Given the description of an element on the screen output the (x, y) to click on. 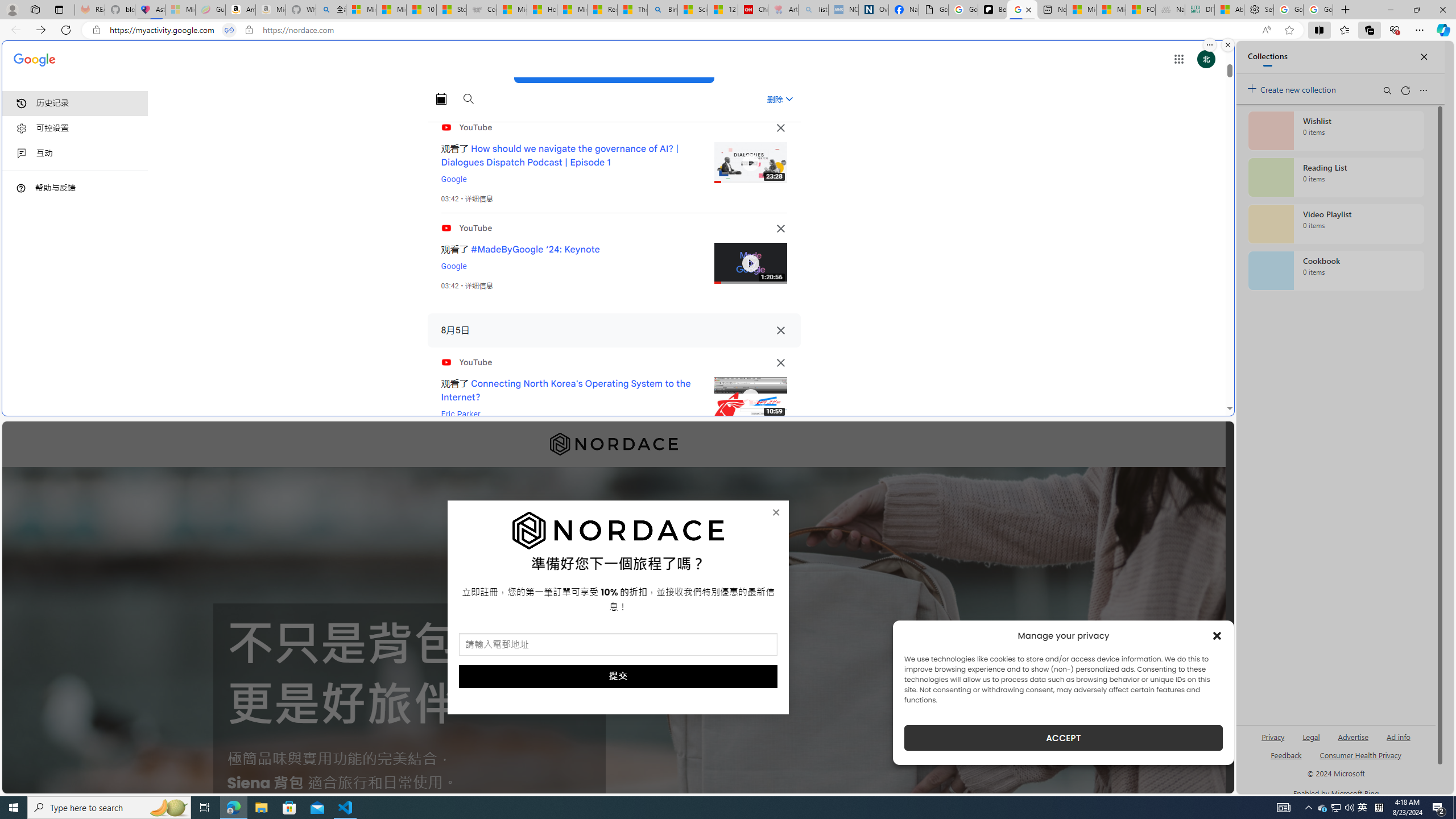
More options. (1209, 45)
Arthritis: Ask Health Professionals - Sleeping (782, 9)
Class: asE2Ub NMm5M (788, 99)
Class: DTiKkd NMm5M (21, 188)
ACCEPT (1063, 737)
